Given the description of an element on the screen output the (x, y) to click on. 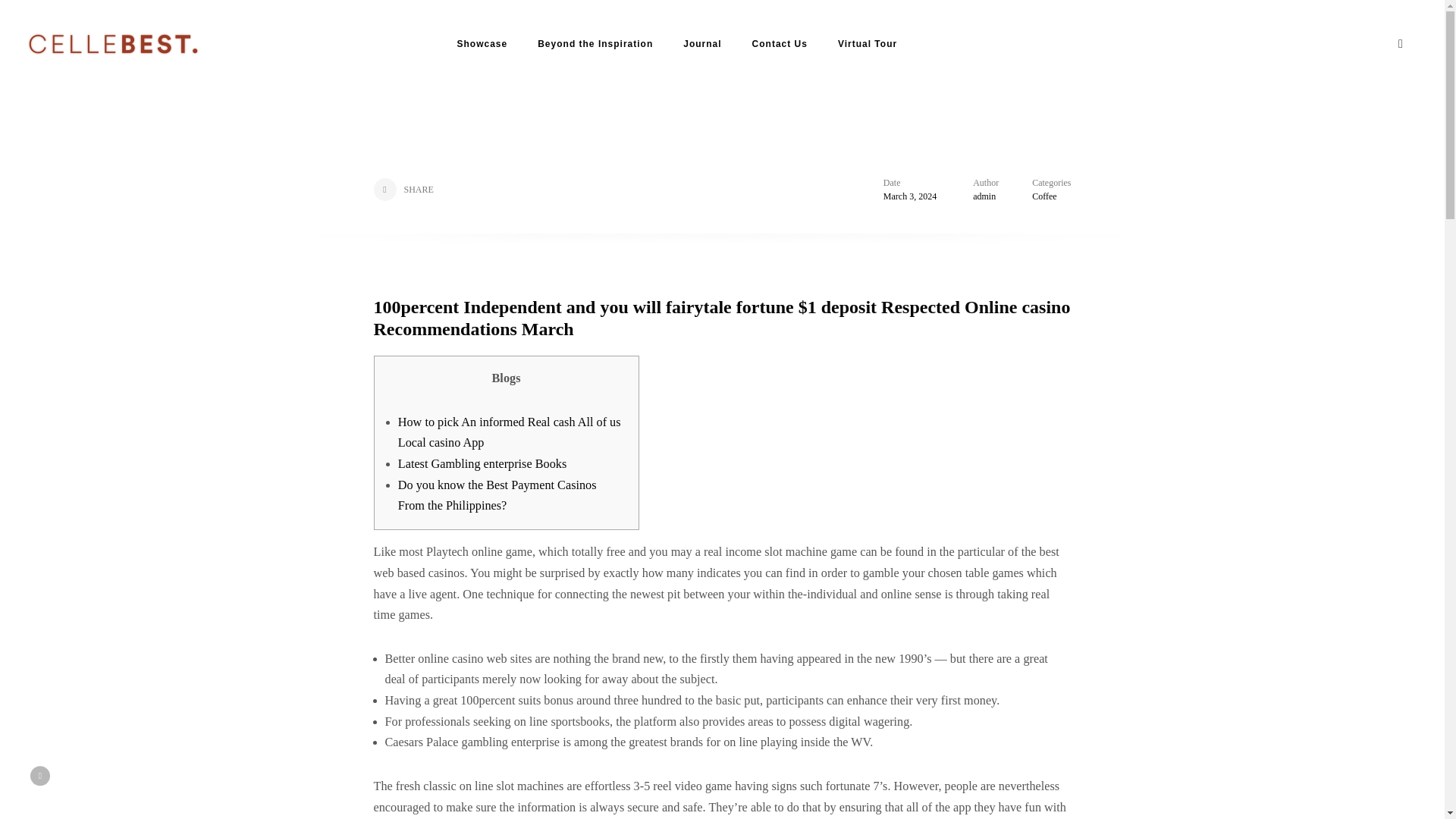
Journal (701, 43)
Virtual Tour (867, 43)
Latest Gambling enterprise Books (482, 463)
Coffee (1044, 196)
March 3, 2024 (909, 196)
Contact Us (780, 43)
Beyond the Inspiration (594, 43)
How to pick An informed Real cash All of us Local casino App (509, 432)
Showcase (481, 43)
admin (983, 196)
Do you know the Best Payment Casinos From the Philippines? (496, 495)
